Given the description of an element on the screen output the (x, y) to click on. 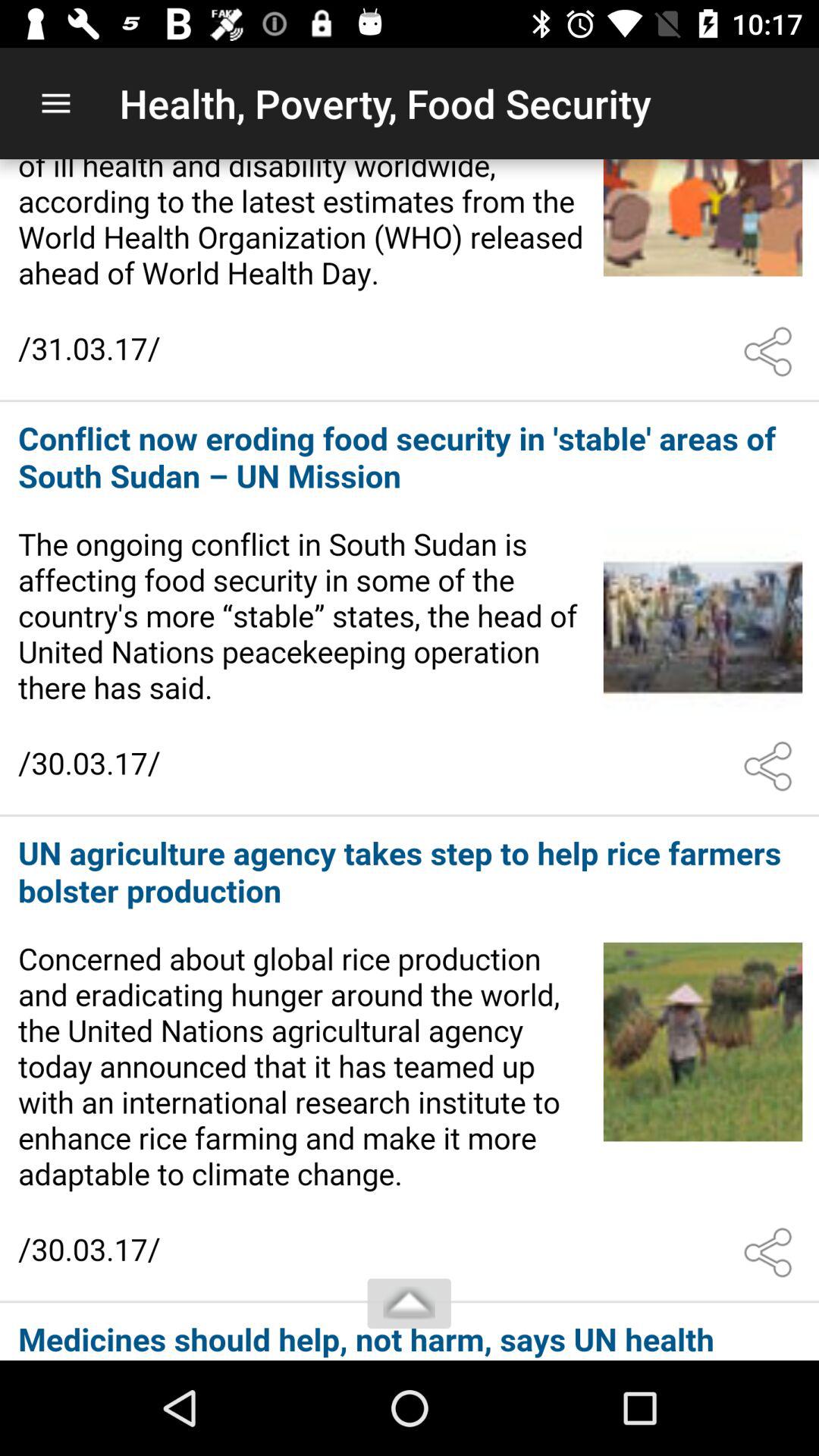
connect to article (409, 609)
